Given the description of an element on the screen output the (x, y) to click on. 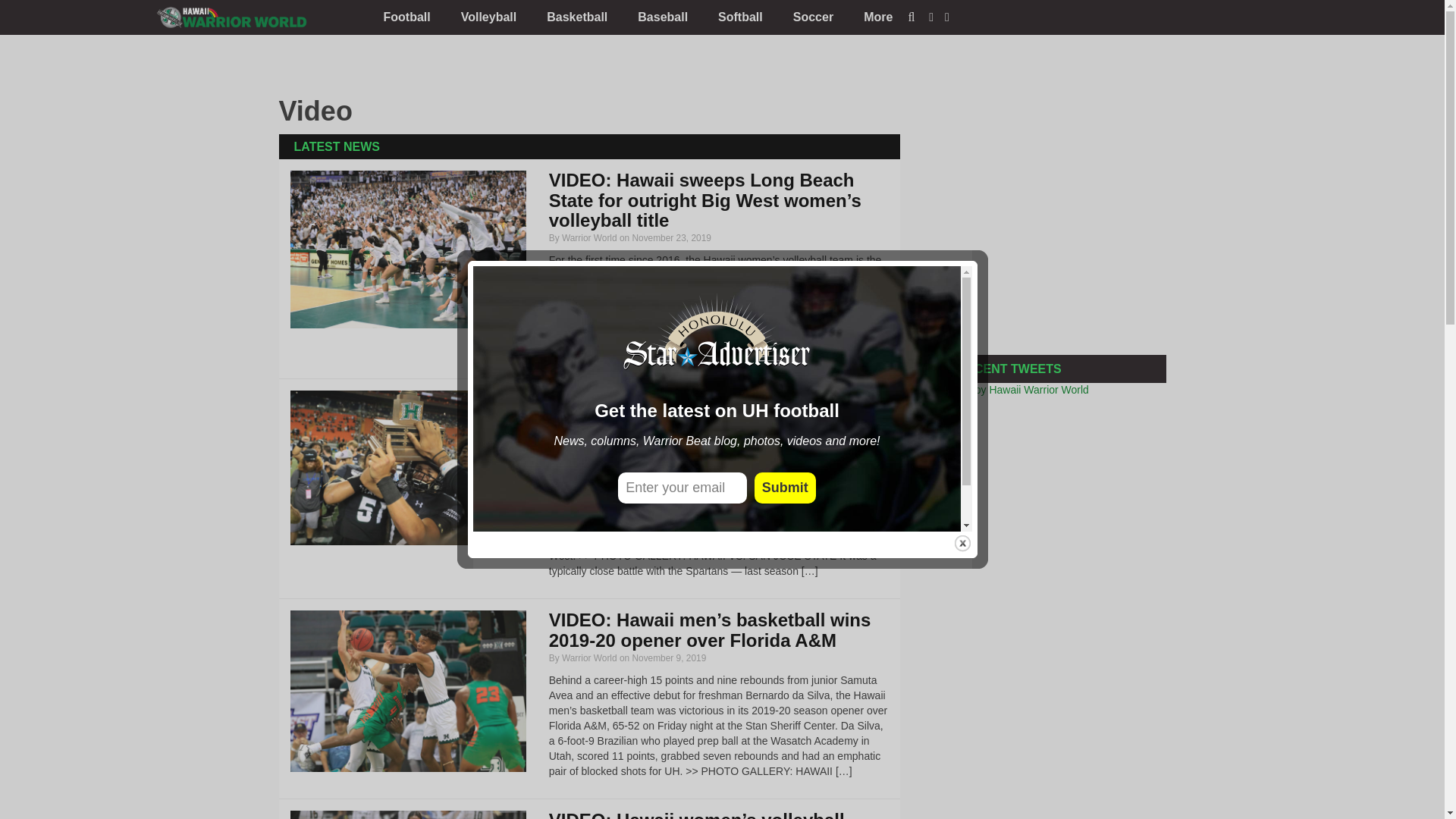
Soccer (812, 17)
Football (406, 17)
Basketball (577, 17)
Baseball (663, 17)
Volleyball (488, 17)
Volleyball (488, 17)
Softball (740, 17)
Football (406, 17)
Basketball (577, 17)
